Given the description of an element on the screen output the (x, y) to click on. 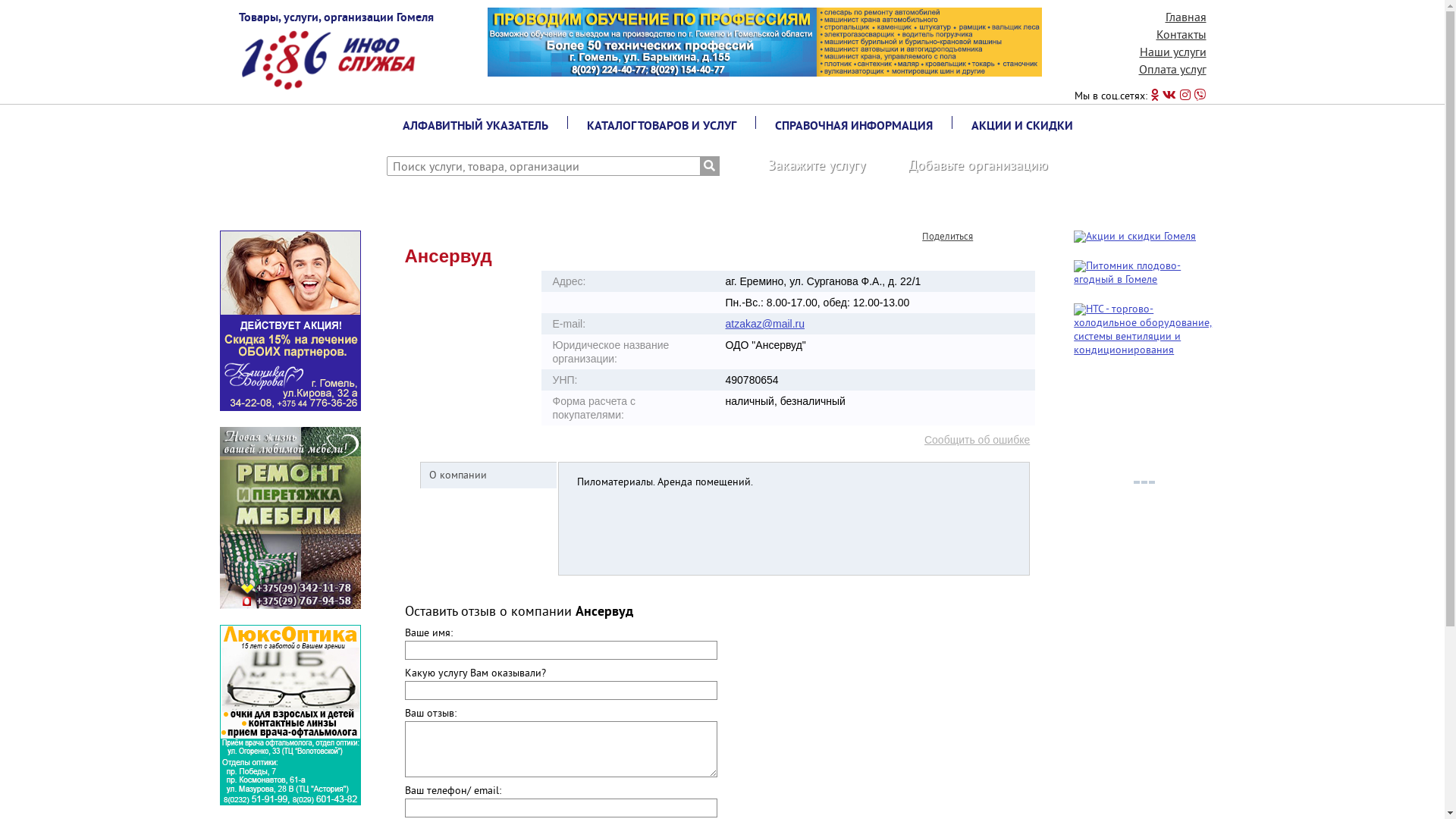
atzakaz@mail.ru Element type: text (764, 323)
Twitter Element type: hover (1018, 232)
Facebook Element type: hover (1002, 232)
